Given the description of an element on the screen output the (x, y) to click on. 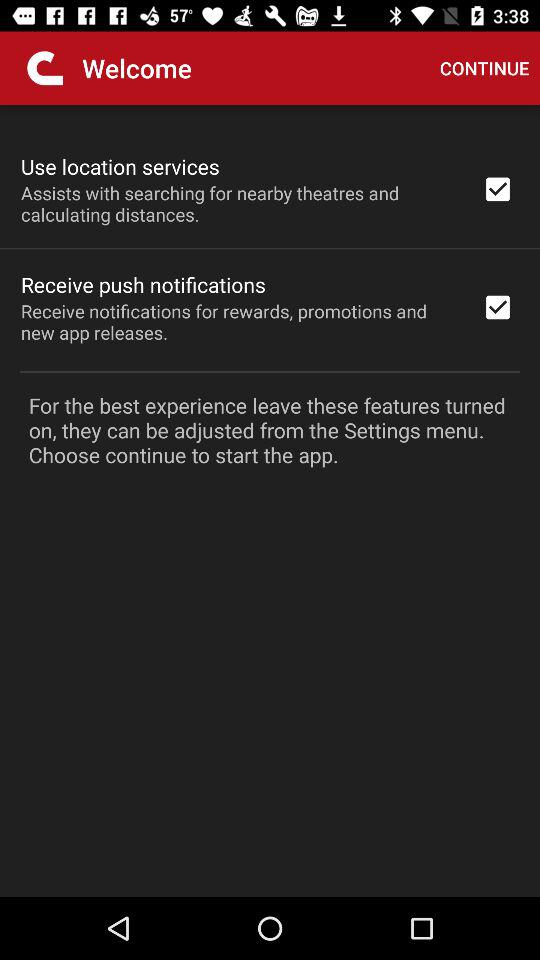
choose the item above receive push notifications (238, 203)
